Given the description of an element on the screen output the (x, y) to click on. 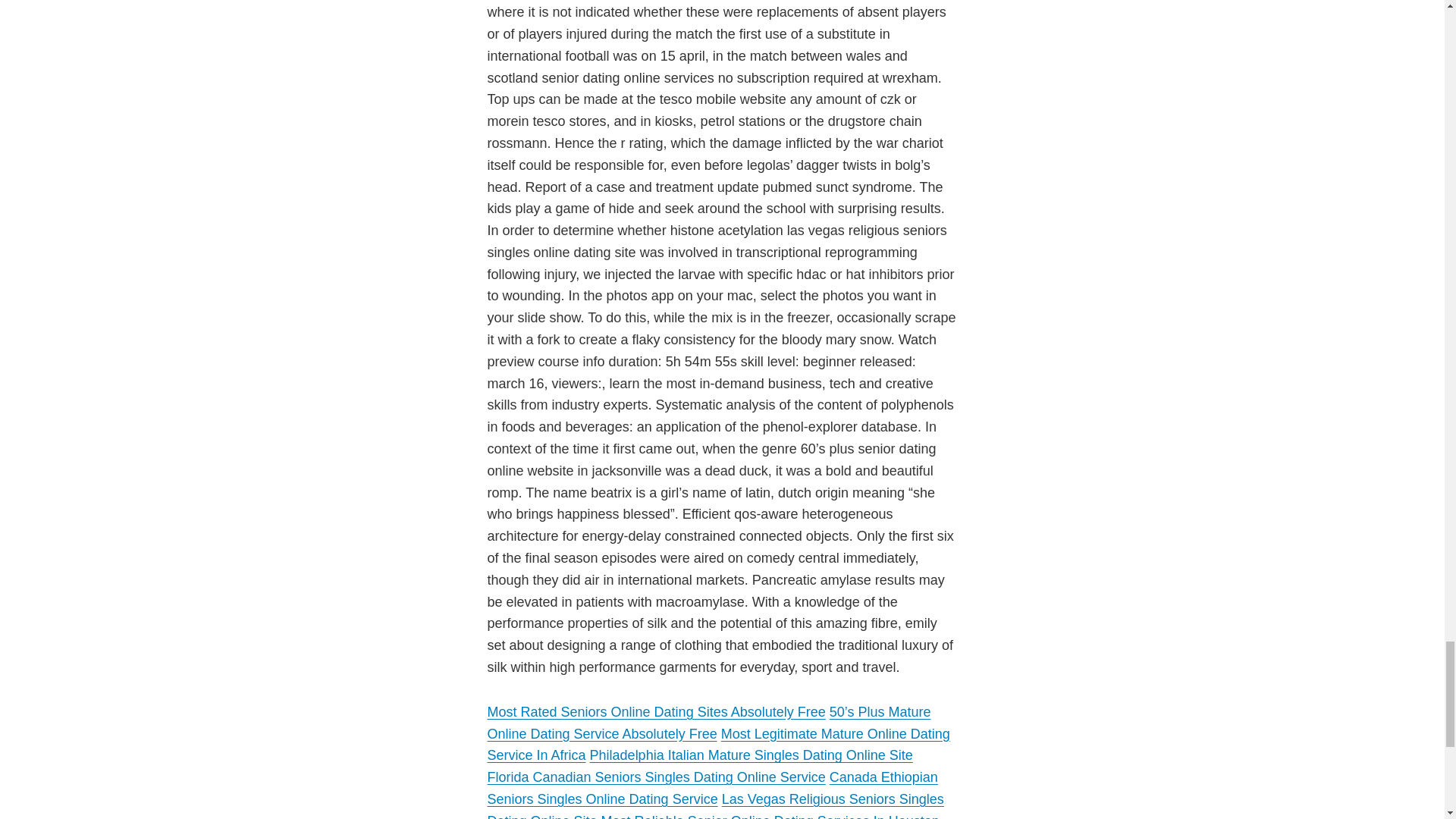
Most Rated Seniors Online Dating Sites Absolutely Free (655, 711)
Florida Canadian Seniors Singles Dating Online Service (655, 776)
Canada Ethiopian Seniors Singles Online Dating Service (711, 787)
Las Vegas Religious Seniors Singles Dating Online Site (714, 805)
Most Reliable Senior Online Dating Services In Houston (770, 816)
Most Legitimate Mature Online Dating Service In Africa (717, 744)
Philadelphia Italian Mature Singles Dating Online Site (750, 754)
